Given the description of an element on the screen output the (x, y) to click on. 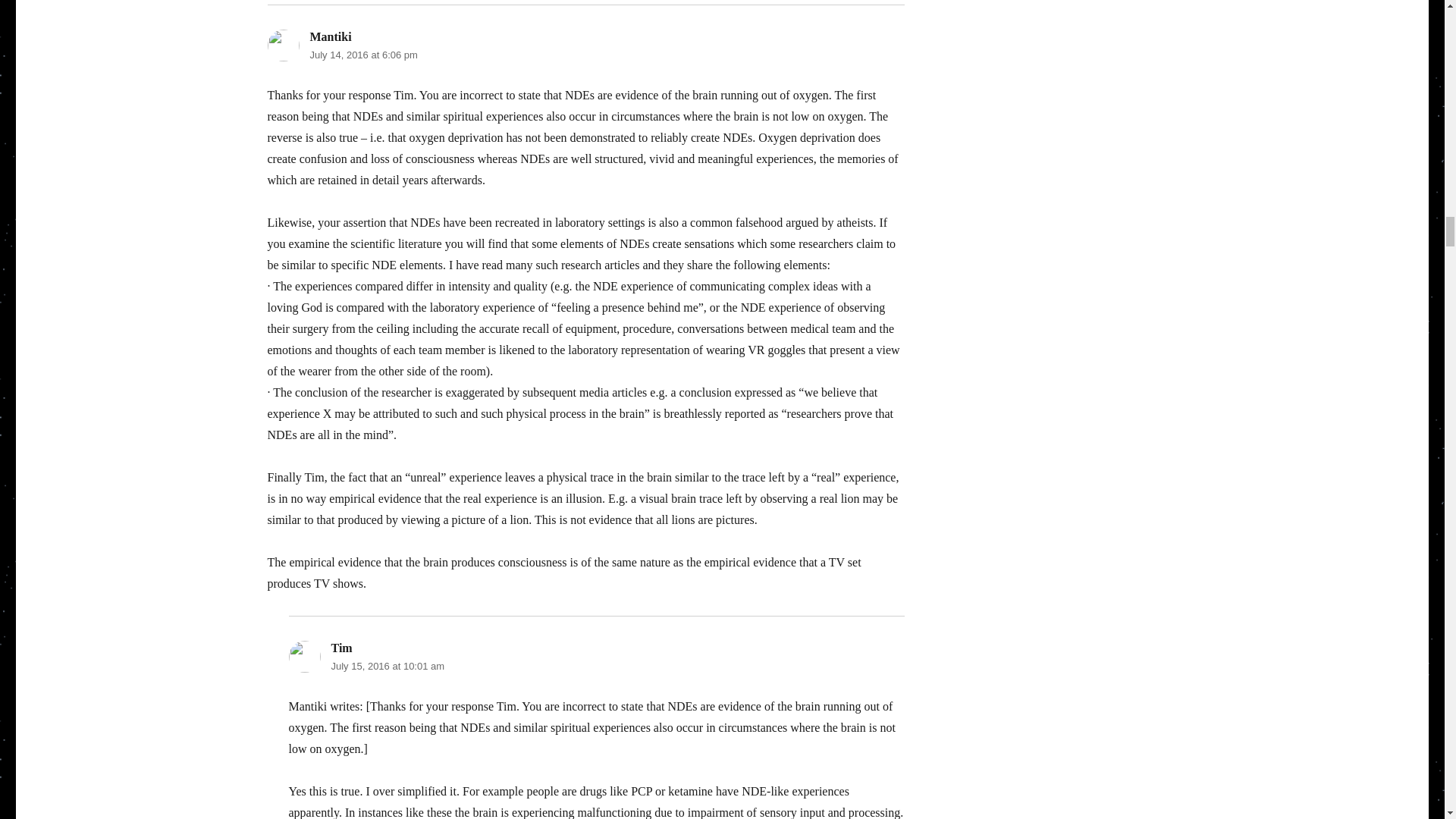
July 14, 2016 at 6:06 pm (362, 54)
July 15, 2016 at 10:01 am (387, 665)
